Given the description of an element on the screen output the (x, y) to click on. 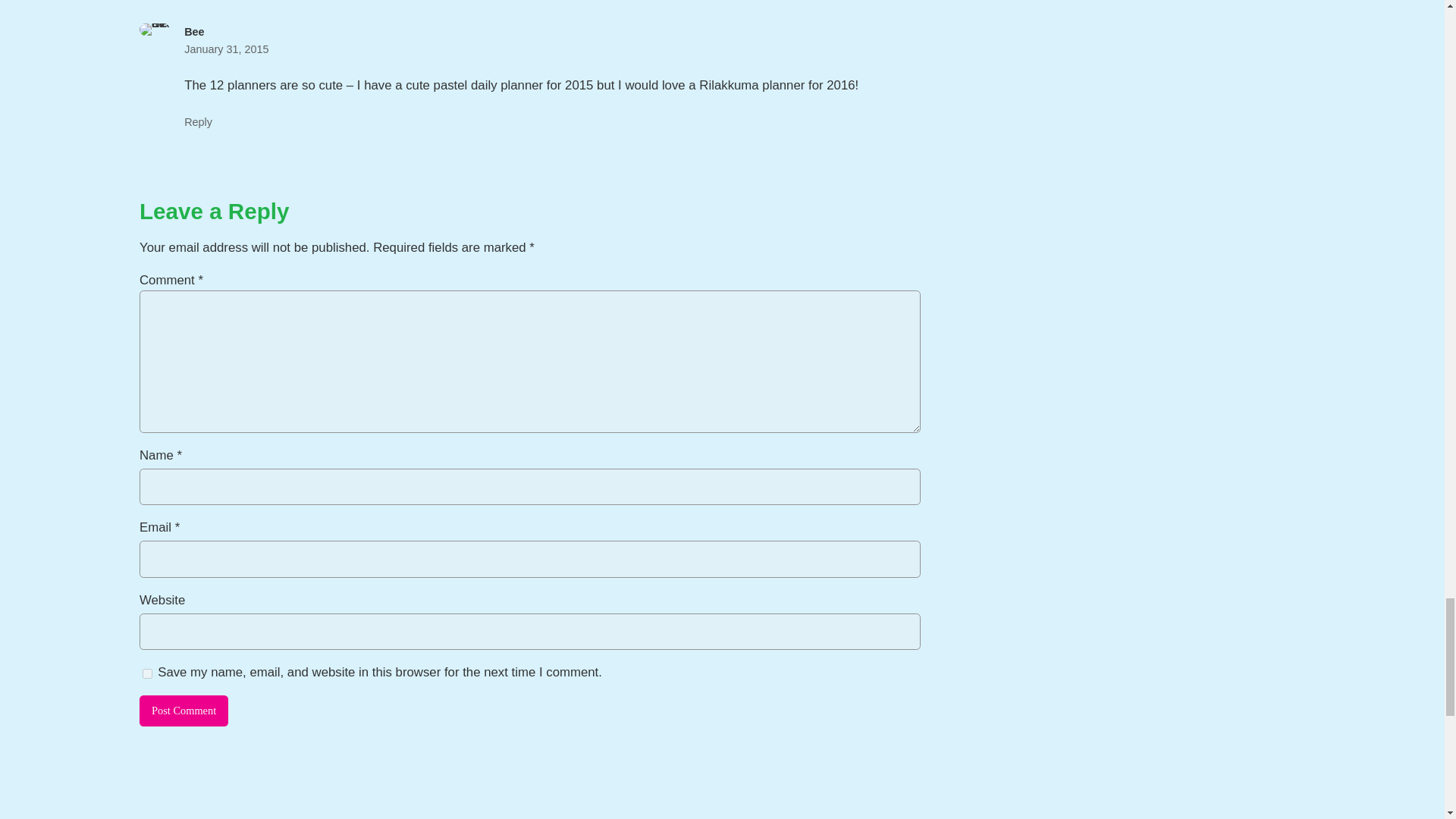
Post Comment (183, 711)
